Given the description of an element on the screen output the (x, y) to click on. 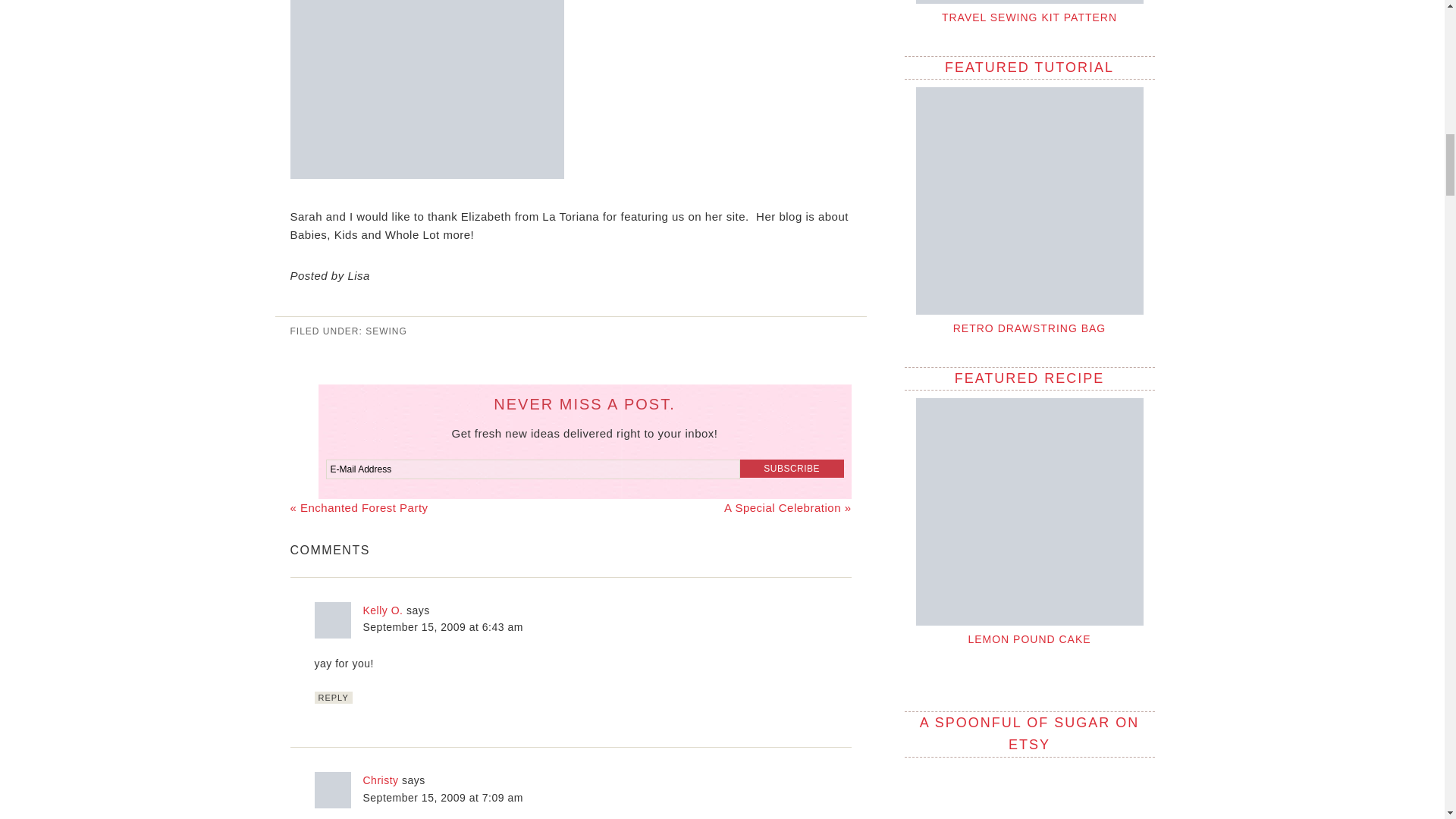
Lemon Pound Cake (1029, 511)
Travel Sewing Kit Pattern (1029, 17)
Retro Drawstring Bag (1029, 328)
Retro Drawstring Bag (1029, 200)
Subscribe (791, 468)
Lemon Pound Cake (1029, 639)
Travel Sewing Kit Pattern (1029, 2)
